Given the description of an element on the screen output the (x, y) to click on. 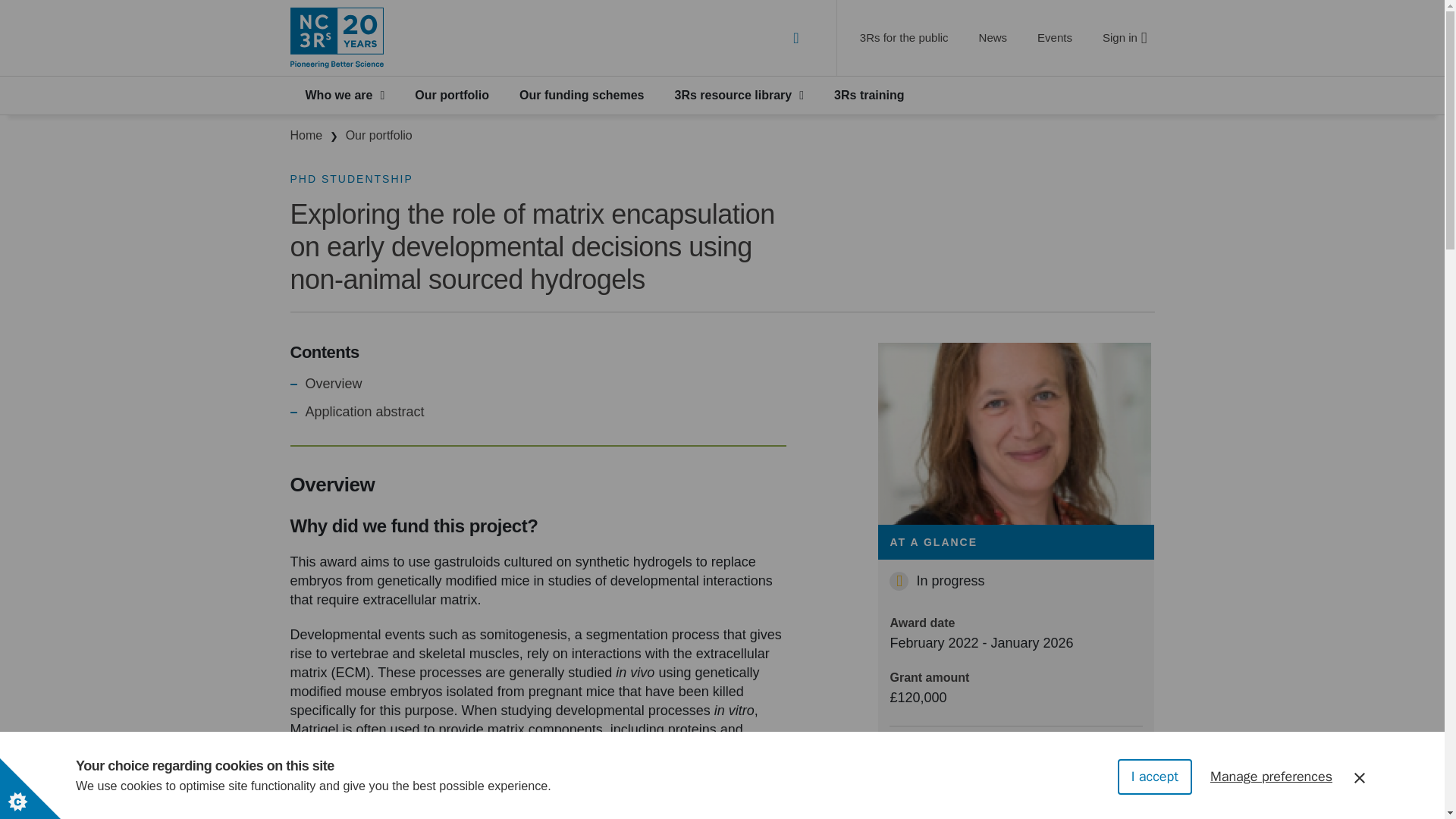
Events (1054, 37)
3Rs for the public (903, 37)
In page link to Application abstract (365, 412)
Who we are (344, 95)
In page link to Overview (333, 383)
3Rs research and innovation funding from the NC3Rs (581, 95)
Our portfolio (451, 95)
Sign in (1124, 37)
Our funding schemes (581, 95)
